Given the description of an element on the screen output the (x, y) to click on. 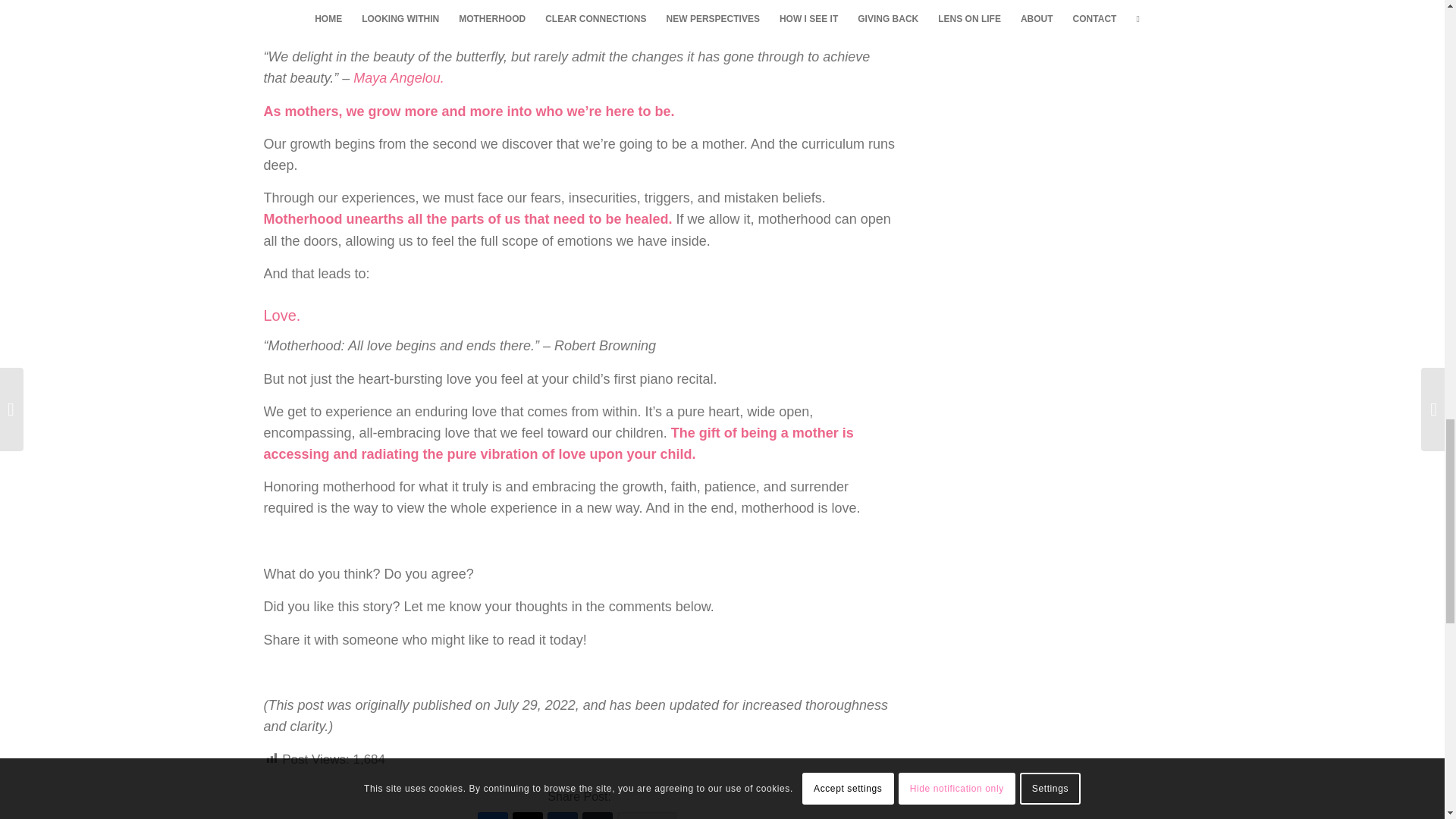
Maya Angelou. (398, 77)
more (647, 815)
